Given the description of an element on the screen output the (x, y) to click on. 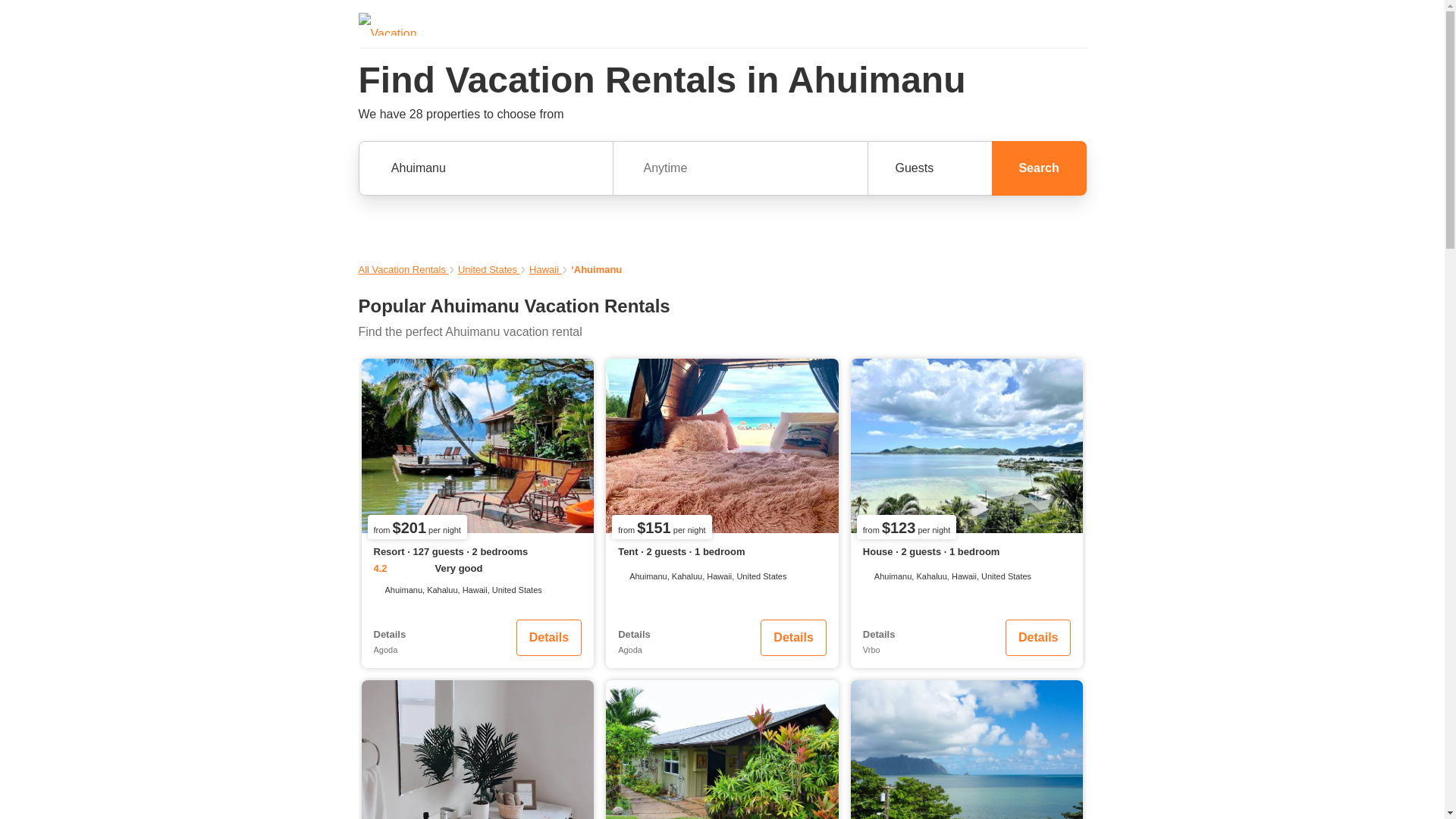
All Vacation Rentals (403, 269)
All Vacation Rentals (403, 269)
United States (488, 269)
Hawaii (545, 269)
Hawaii (545, 269)
Search (1038, 167)
United States (488, 269)
